Given the description of an element on the screen output the (x, y) to click on. 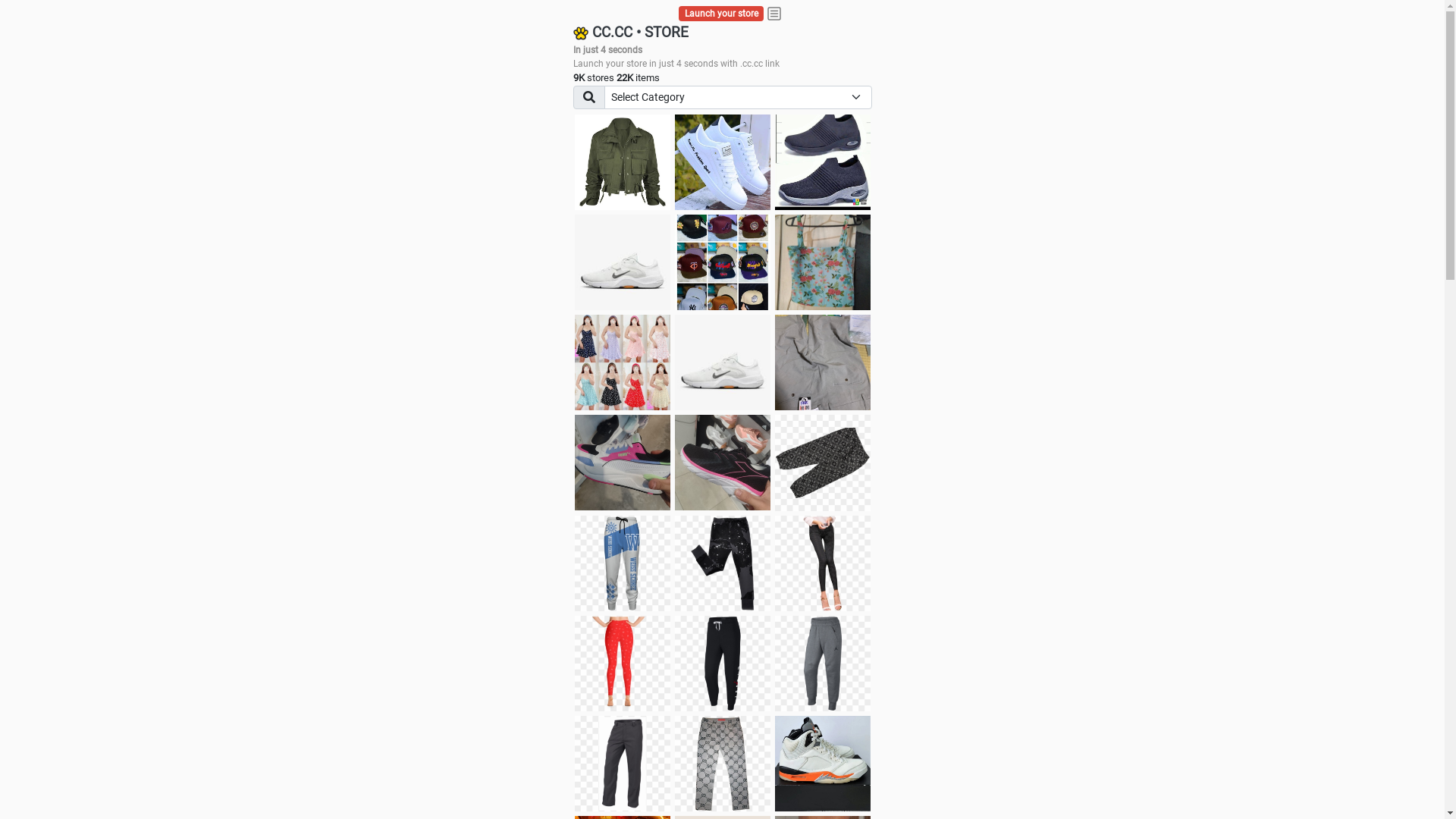
Shoes for boys Element type: hover (622, 262)
Short pant Element type: hover (822, 462)
shoes for boys Element type: hover (822, 162)
Pant Element type: hover (622, 563)
Shoes Element type: hover (722, 362)
Pant Element type: hover (622, 663)
Launch your store Element type: text (721, 13)
Things we need Element type: hover (722, 262)
Pant Element type: hover (822, 563)
Shoe Element type: hover (822, 763)
Pant Element type: hover (622, 763)
Zapatillas Element type: hover (722, 462)
Pant Element type: hover (822, 663)
Zapatillas pumas Element type: hover (622, 462)
white shoes Element type: hover (722, 162)
Dress/square nect top Element type: hover (622, 362)
Pant Element type: hover (722, 663)
jacket Element type: hover (622, 162)
Ukay cloth Element type: hover (822, 262)
Pant Element type: hover (722, 563)
Pant Element type: hover (722, 763)
